Given the description of an element on the screen output the (x, y) to click on. 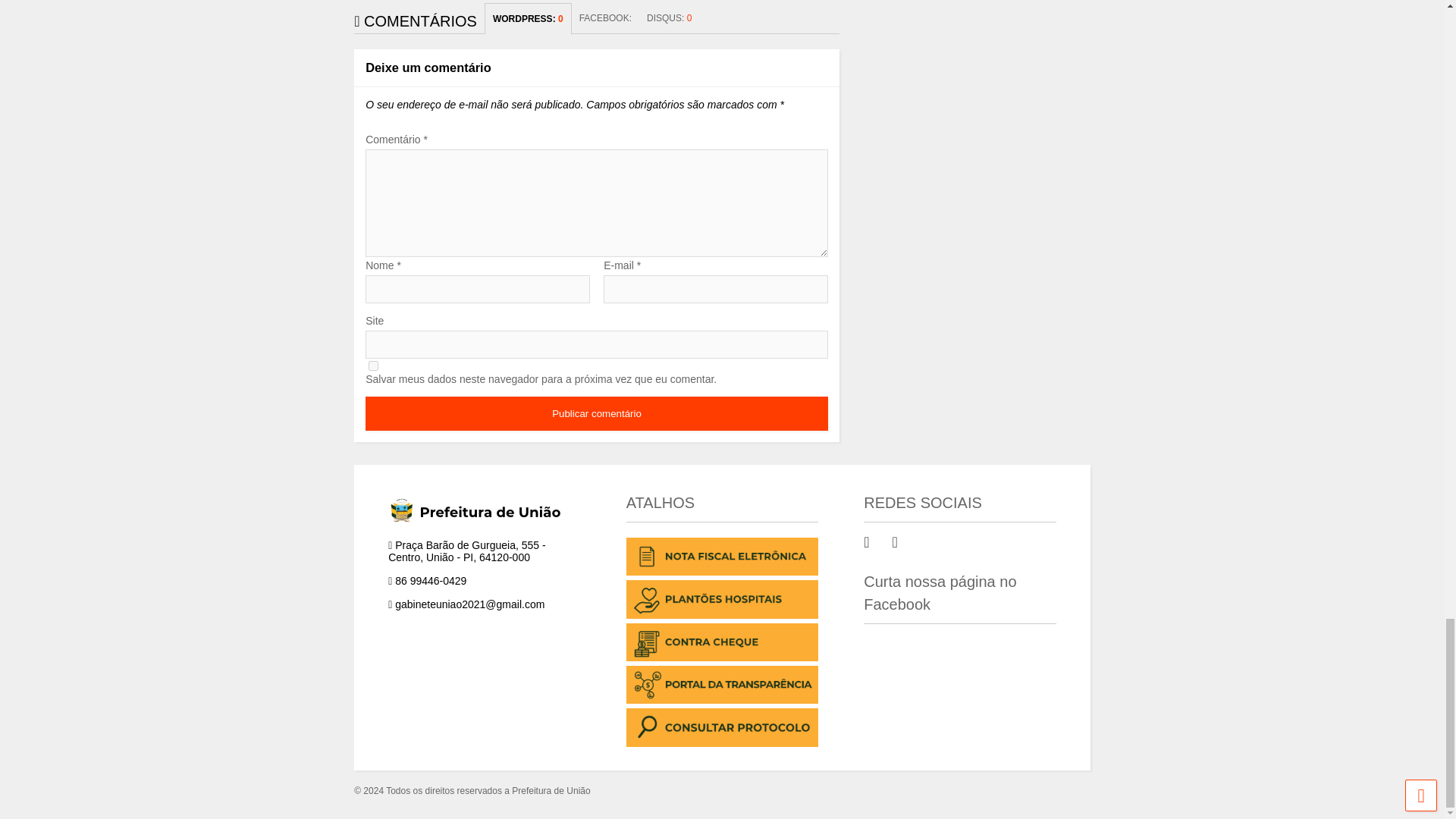
yes (373, 366)
WORDPRESS: 0 (528, 18)
DISQUS: 0 (668, 18)
FACEBOOK: (605, 18)
